Given the description of an element on the screen output the (x, y) to click on. 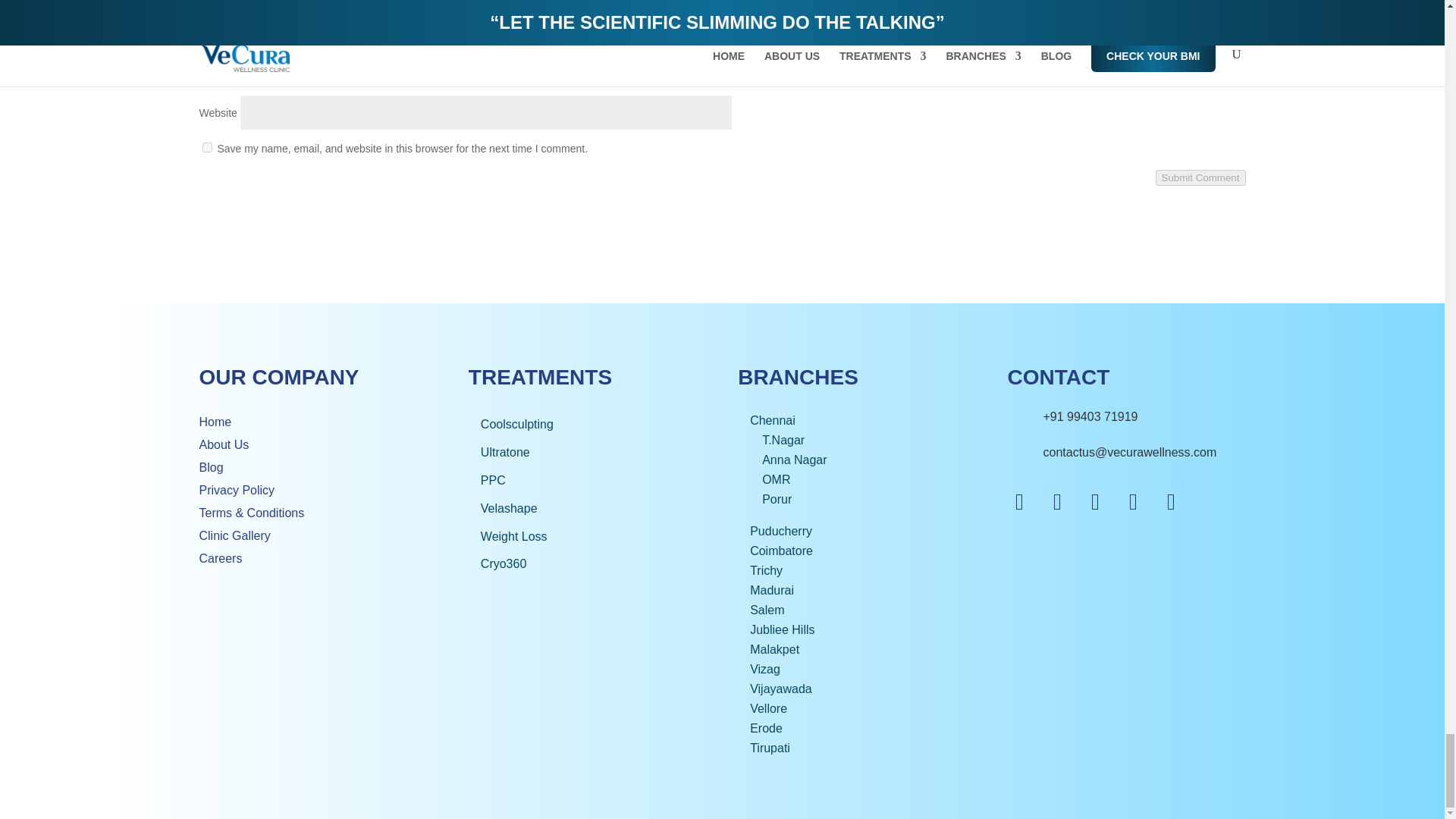
yes (206, 147)
